Given the description of an element on the screen output the (x, y) to click on. 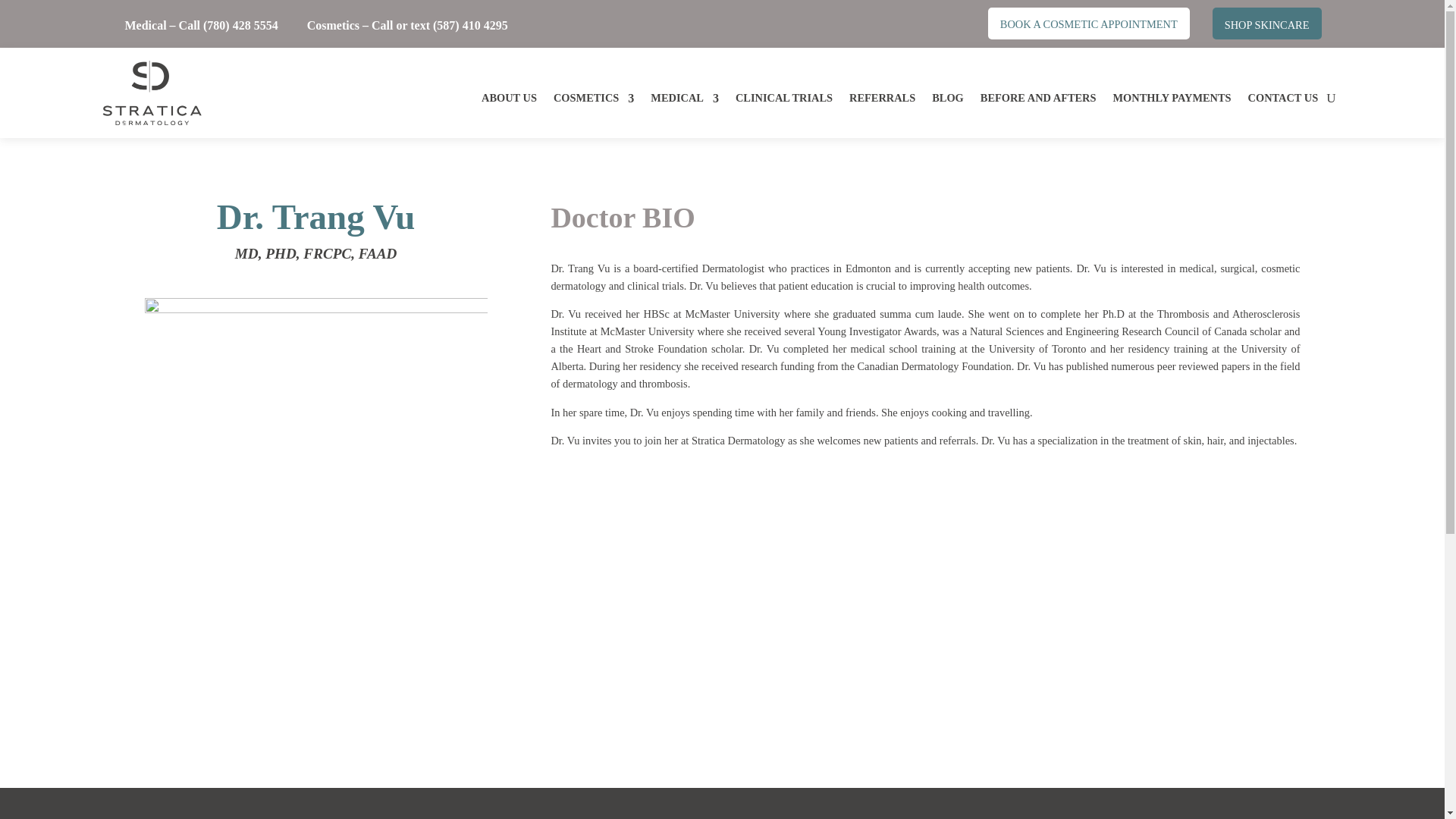
Stratica-Dermatology-logo-black (151, 92)
BEFORE AND AFTERS (1037, 101)
MEDICAL (684, 101)
MONTHLY PAYMENTS (1172, 101)
BOOK A COSMETIC APPOINTMENT (1088, 23)
CLINICAL TRIALS (783, 101)
ABOUT US (509, 101)
BLOG (947, 101)
REFERRALS (881, 101)
COSMETICS (593, 101)
